Given the description of an element on the screen output the (x, y) to click on. 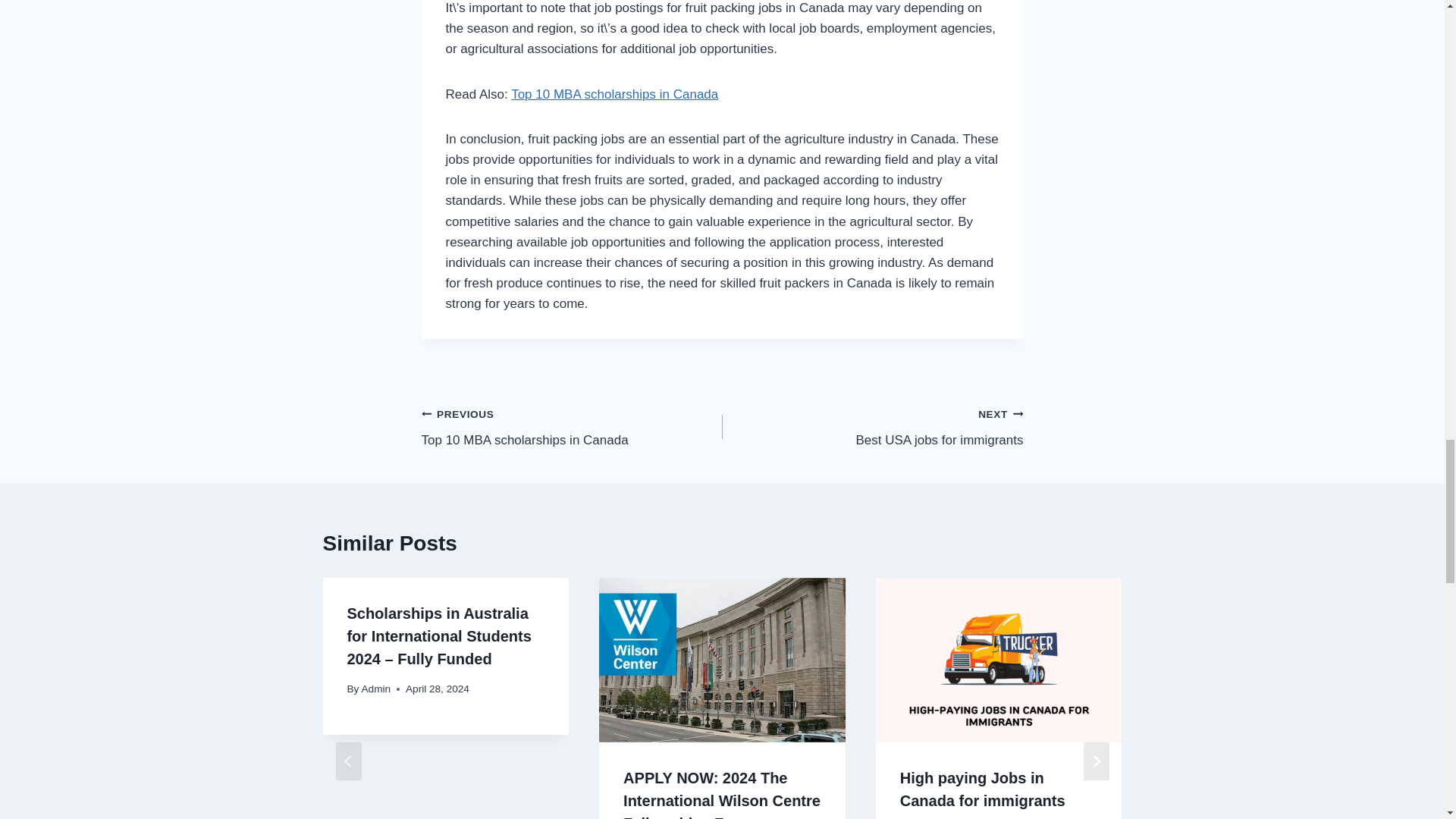
Top 10 MBA scholarships in Canada (572, 427)
